Given the description of an element on the screen output the (x, y) to click on. 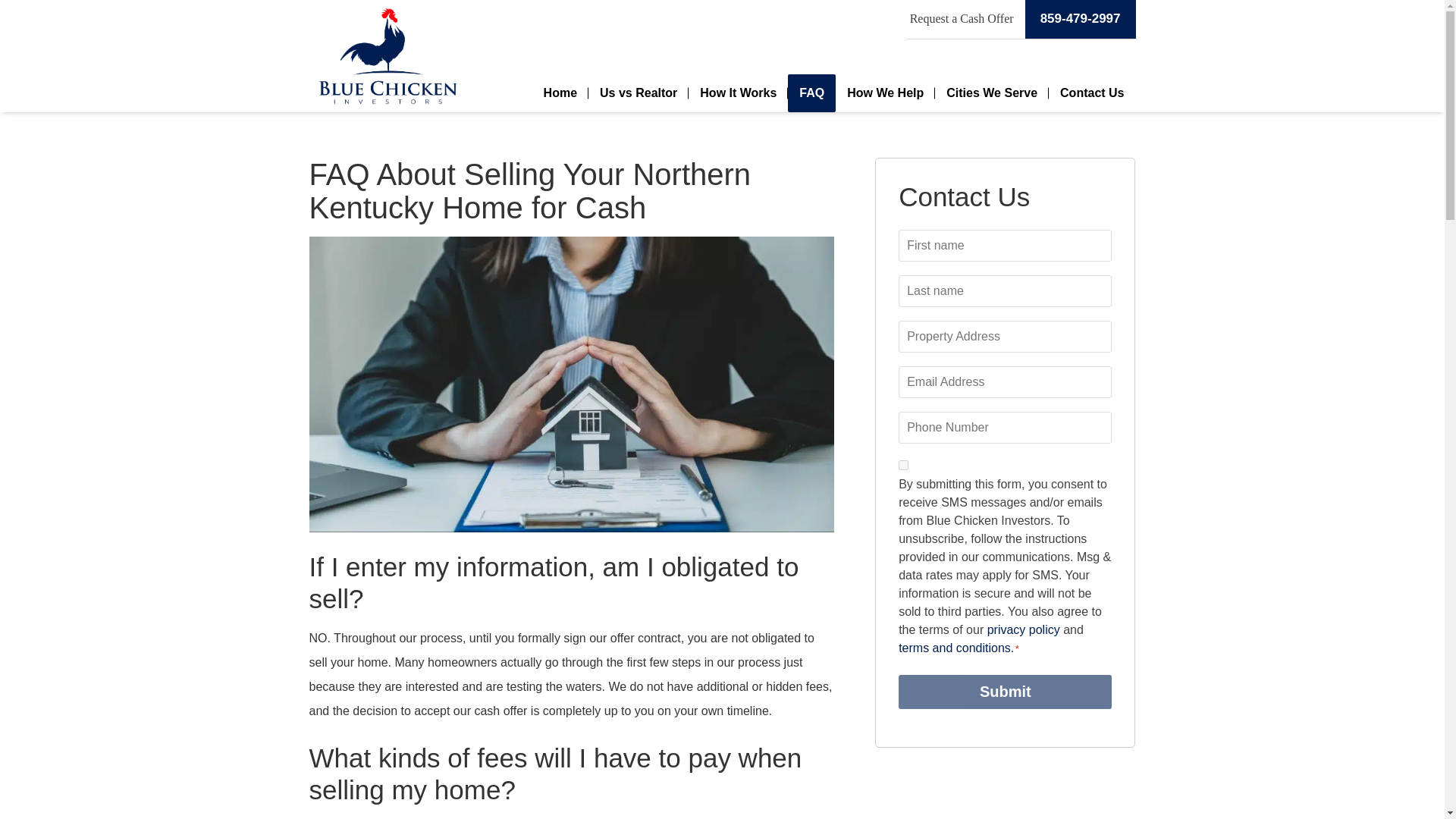
Cities We Serve (991, 93)
How We Help (884, 93)
Home (560, 93)
Submit (1005, 691)
1 (903, 465)
terms and conditions. (955, 647)
859-479-2997 (1080, 19)
Contact Us (1091, 93)
Us vs Realtor (638, 93)
FAQ (811, 93)
